Given the description of an element on the screen output the (x, y) to click on. 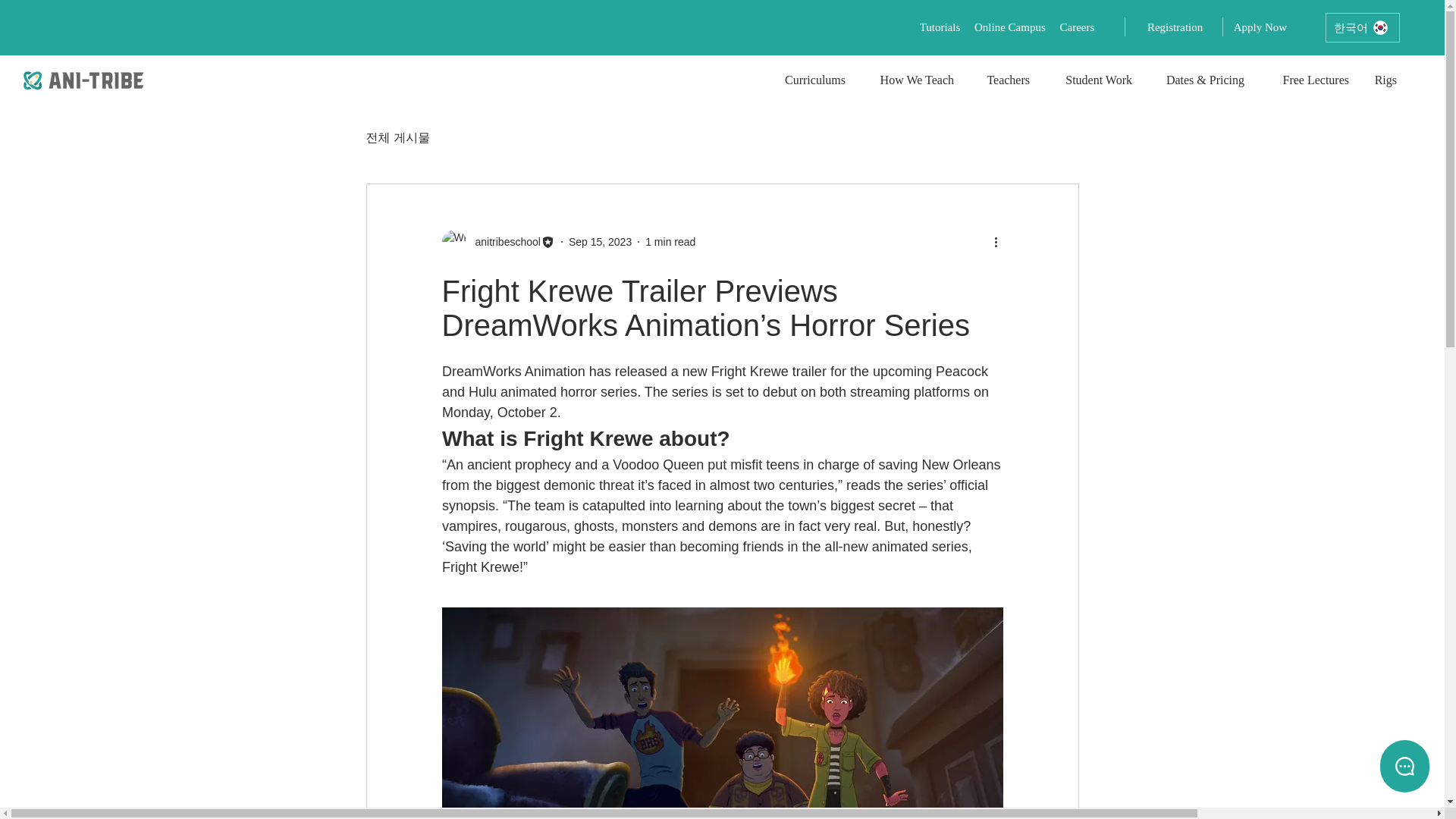
Registration  (1176, 27)
Free Lectures (1307, 79)
anitribeschool (502, 241)
anitribeschool (497, 241)
 Online Campus  (1009, 27)
Rigs (1383, 79)
Tutorials  (943, 27)
How We Teach (911, 79)
Curriculums (812, 79)
Careers (1076, 27)
1 min read (670, 241)
Sep 15, 2023 (600, 241)
Apply Now (1259, 27)
Student Work (1091, 79)
Teachers (1003, 79)
